Given the description of an element on the screen output the (x, y) to click on. 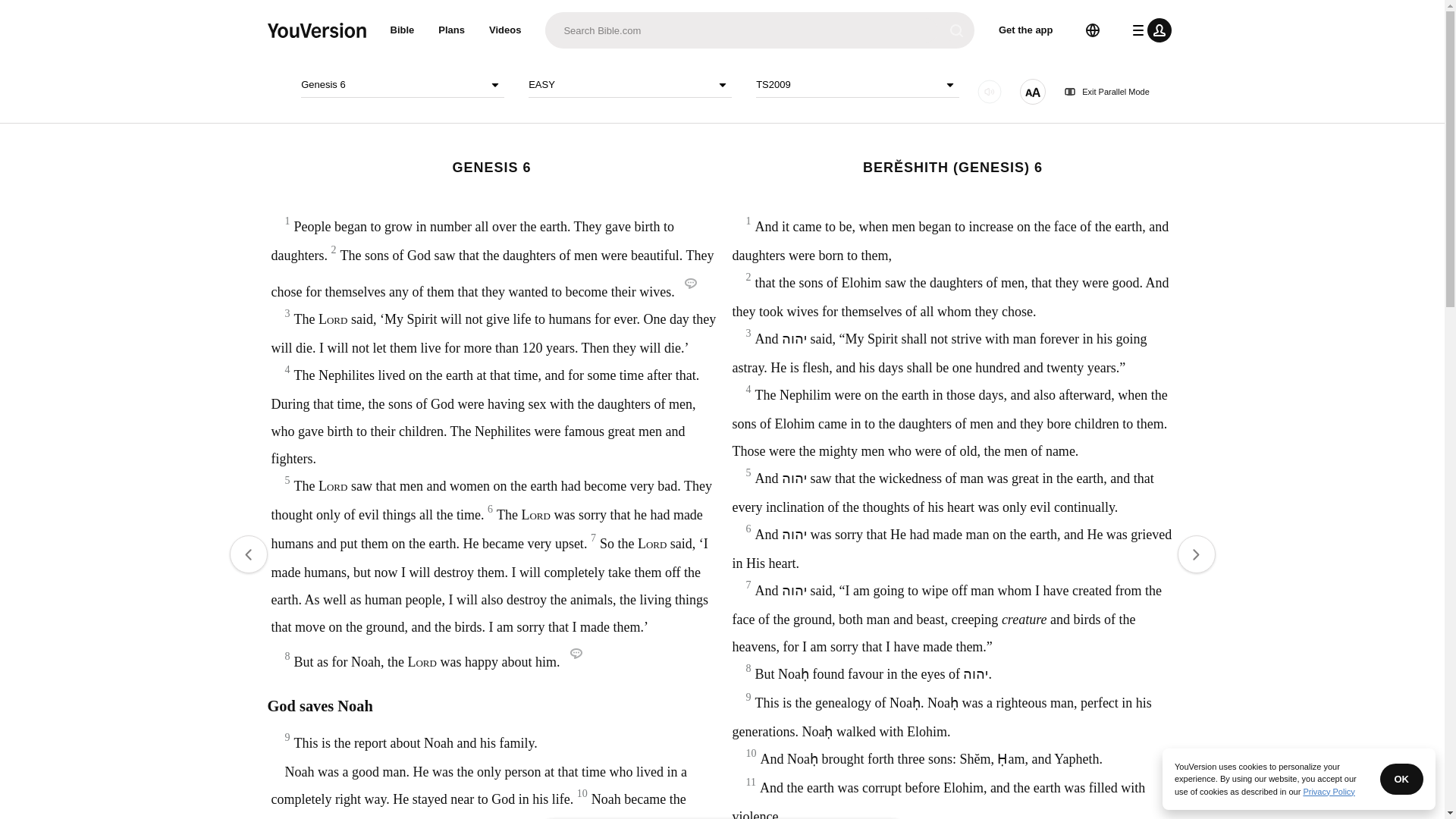
Genesis 6 (402, 84)
Exit Parallel Mode (1107, 91)
Bible (401, 29)
Plans (451, 29)
Videos (504, 29)
EASY (630, 84)
TS2009 (857, 84)
Get the app (1026, 29)
